Given the description of an element on the screen output the (x, y) to click on. 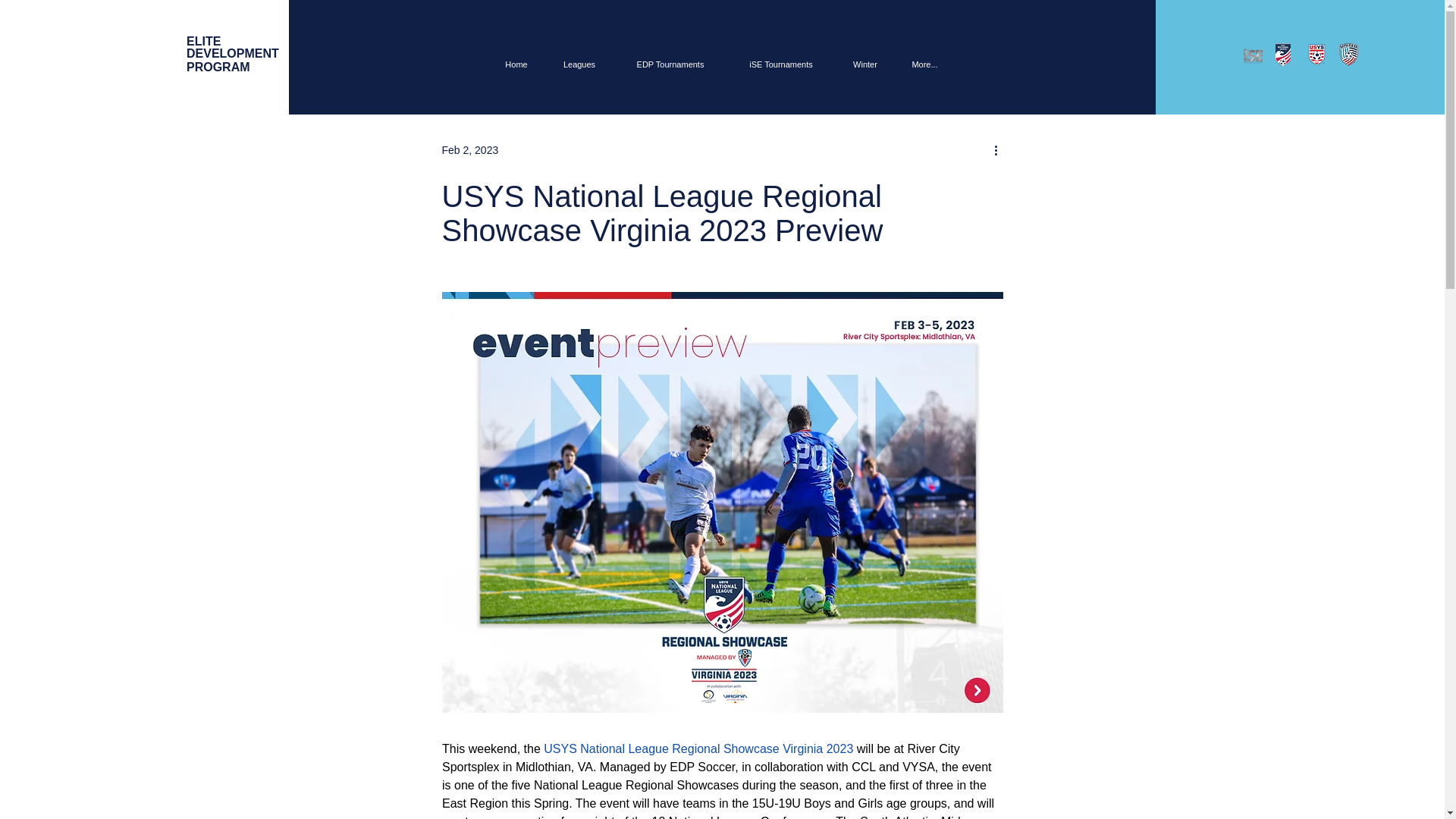
EDP Tournaments (670, 64)
Feb 2, 2023 (469, 150)
Home (515, 64)
Leagues (232, 54)
